Given the description of an element on the screen output the (x, y) to click on. 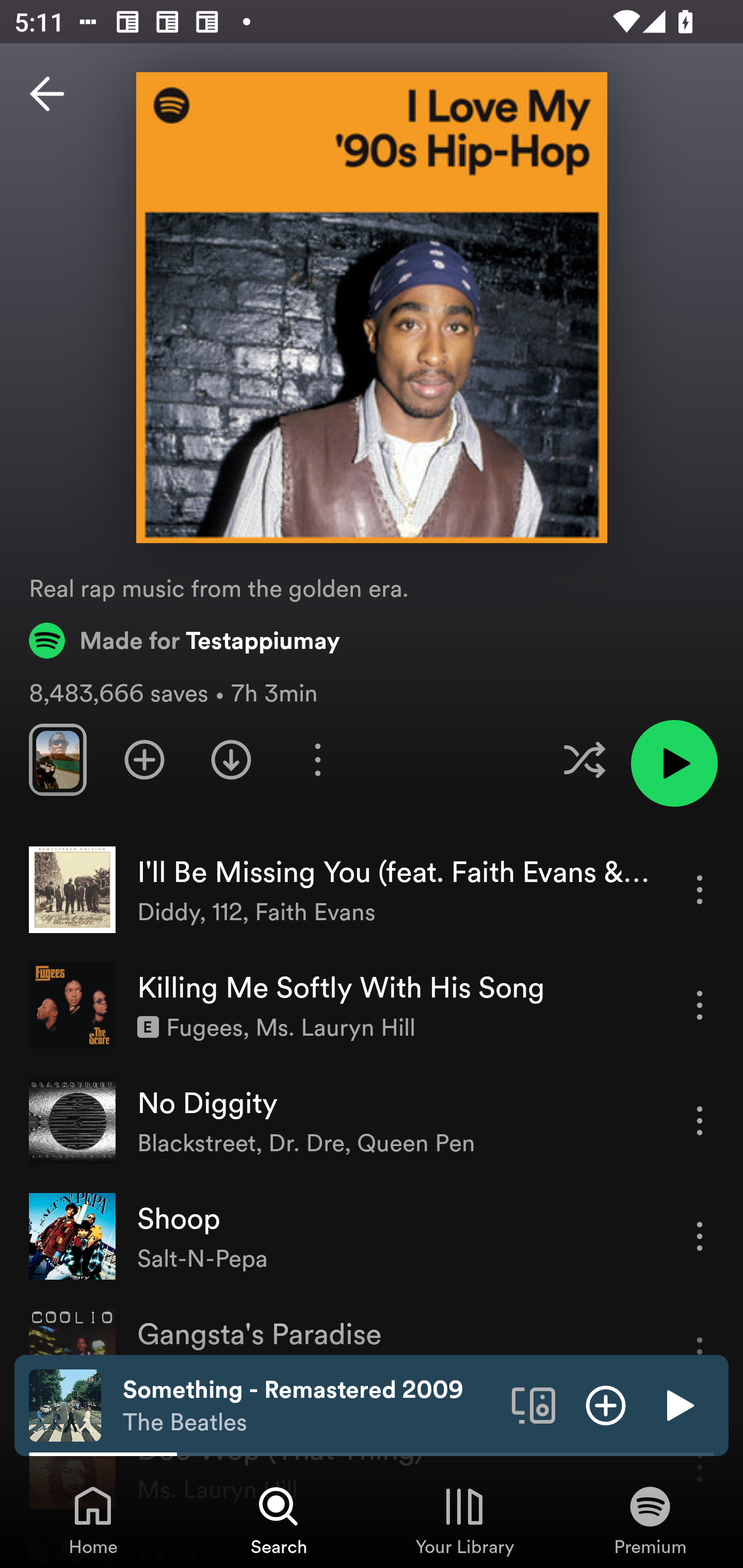
Back (46, 93)
Made for Testappiumay (184, 640)
Swipe through previews of tracks in this playlist. (57, 759)
Add playlist to Your Library (144, 759)
Download (230, 759)
More options for playlist I Love My '90s Hip-Hop (317, 759)
Enable shuffle for this playlist (583, 759)
Play playlist (674, 763)
More options for song No Diggity (699, 1120)
Shoop Salt-N-Pepa More options for song Shoop (371, 1236)
More options for song Shoop (699, 1236)
Something - Remastered 2009 The Beatles (309, 1405)
The cover art of the currently playing track (64, 1404)
Connect to a device. Opens the devices menu (533, 1404)
Add item (605, 1404)
Play (677, 1404)
Home, Tab 1 of 4 Home Home (92, 1519)
Search, Tab 2 of 4 Search Search (278, 1519)
Your Library, Tab 3 of 4 Your Library Your Library (464, 1519)
Premium, Tab 4 of 4 Premium Premium (650, 1519)
